Given the description of an element on the screen output the (x, y) to click on. 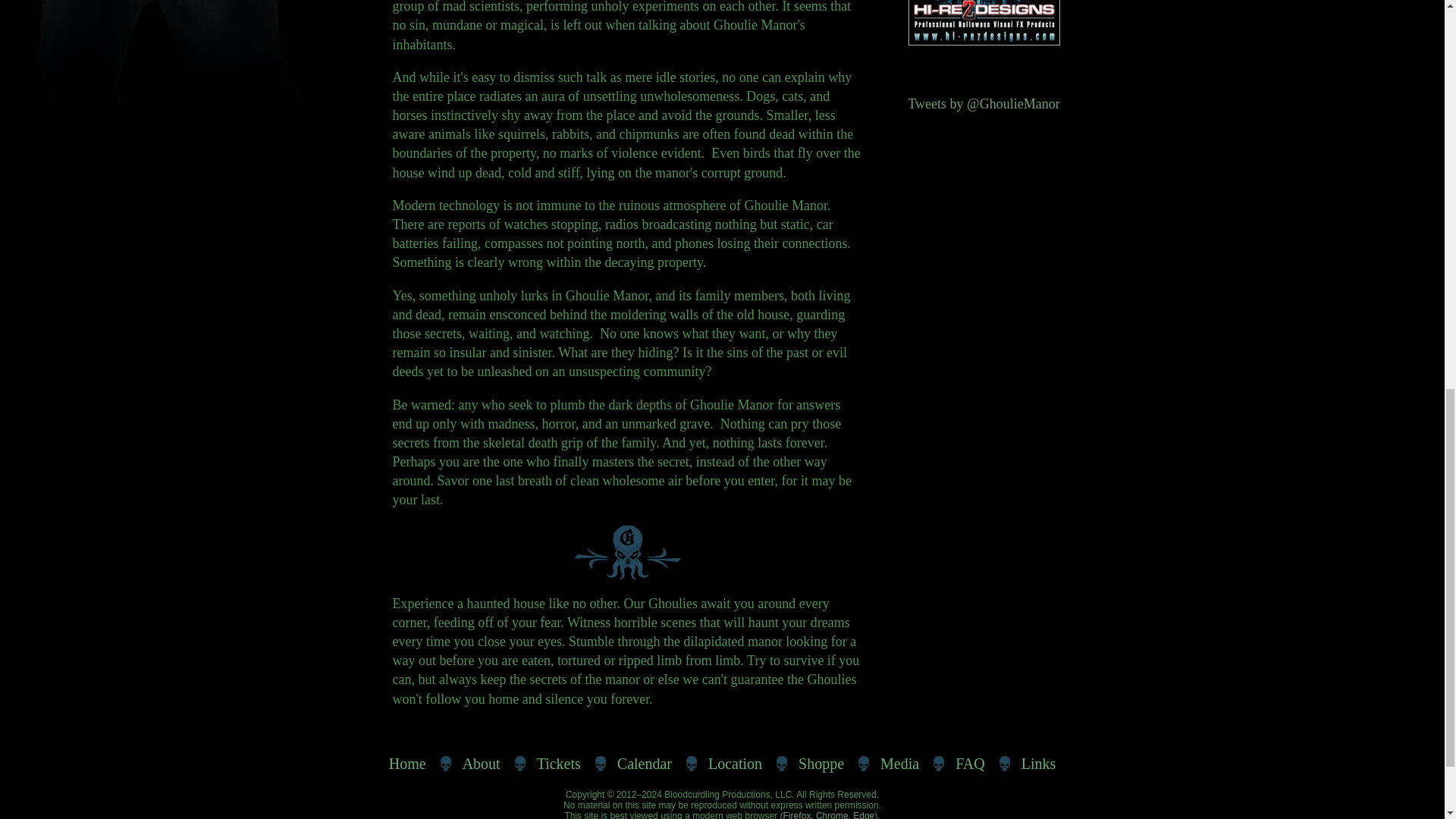
Links (1038, 763)
Firefox (796, 814)
Calendar (643, 763)
Get Mozilla Firefox (796, 814)
Home (407, 763)
Get Microsoft Edge (864, 814)
FAQ (969, 763)
About (481, 763)
Get Google Chrome (831, 814)
Media (899, 763)
Tickets (558, 763)
Location (735, 763)
Chrome (831, 814)
Edge (864, 814)
Shoppe (821, 763)
